Given the description of an element on the screen output the (x, y) to click on. 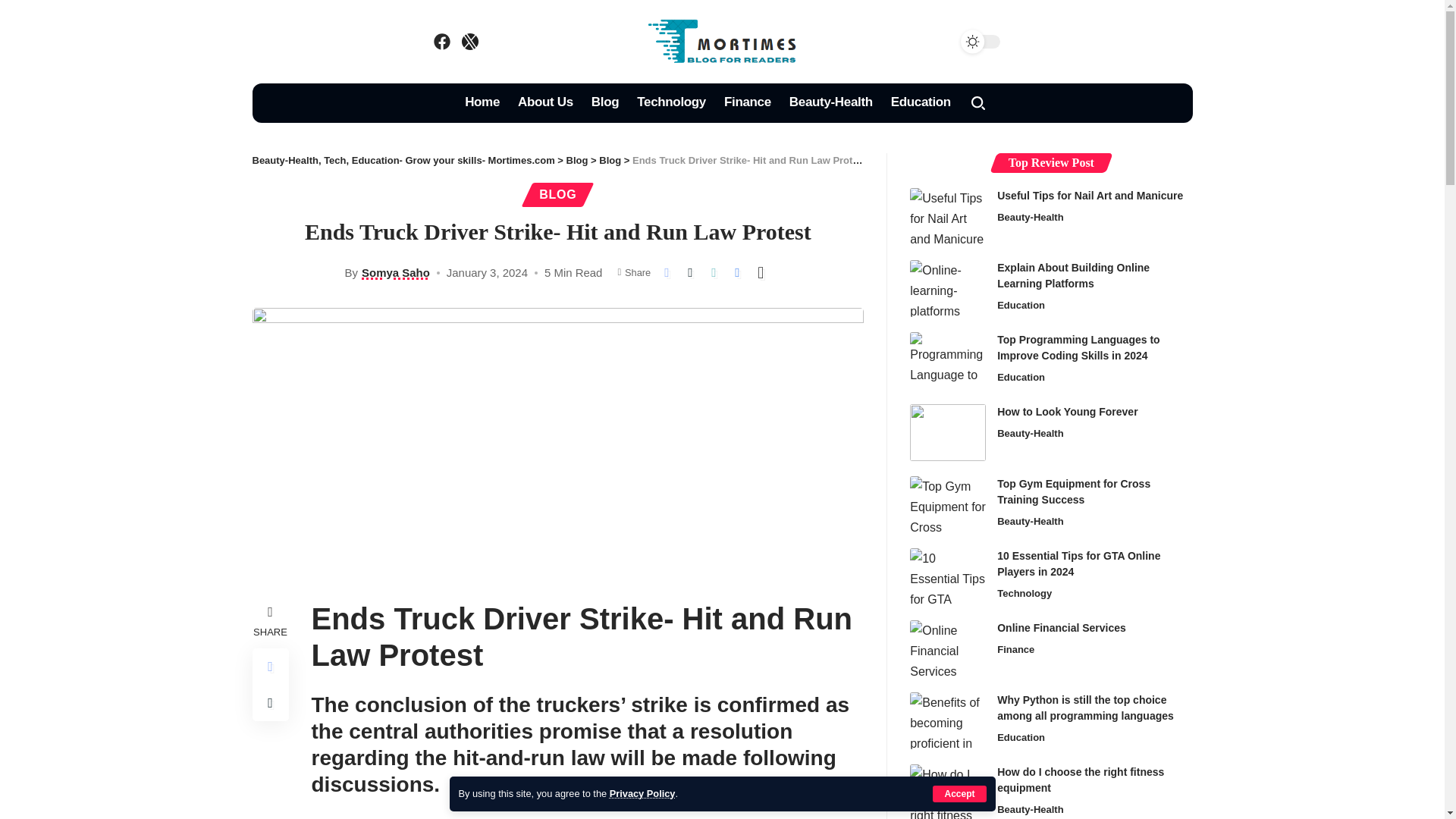
Top Gym Equipment for Cross Training Success (947, 504)
Privacy Policy (642, 793)
Go to the Blog Category archives. (609, 160)
Explain About Building Online Learning Platforms (947, 288)
How do I choose the right fitness equipment (947, 791)
Online Financial Services (947, 648)
How to Look Young Forever (947, 432)
Top Programming Languages to Improve Coding Skills in 2024 (947, 360)
Home (481, 102)
